Given the description of an element on the screen output the (x, y) to click on. 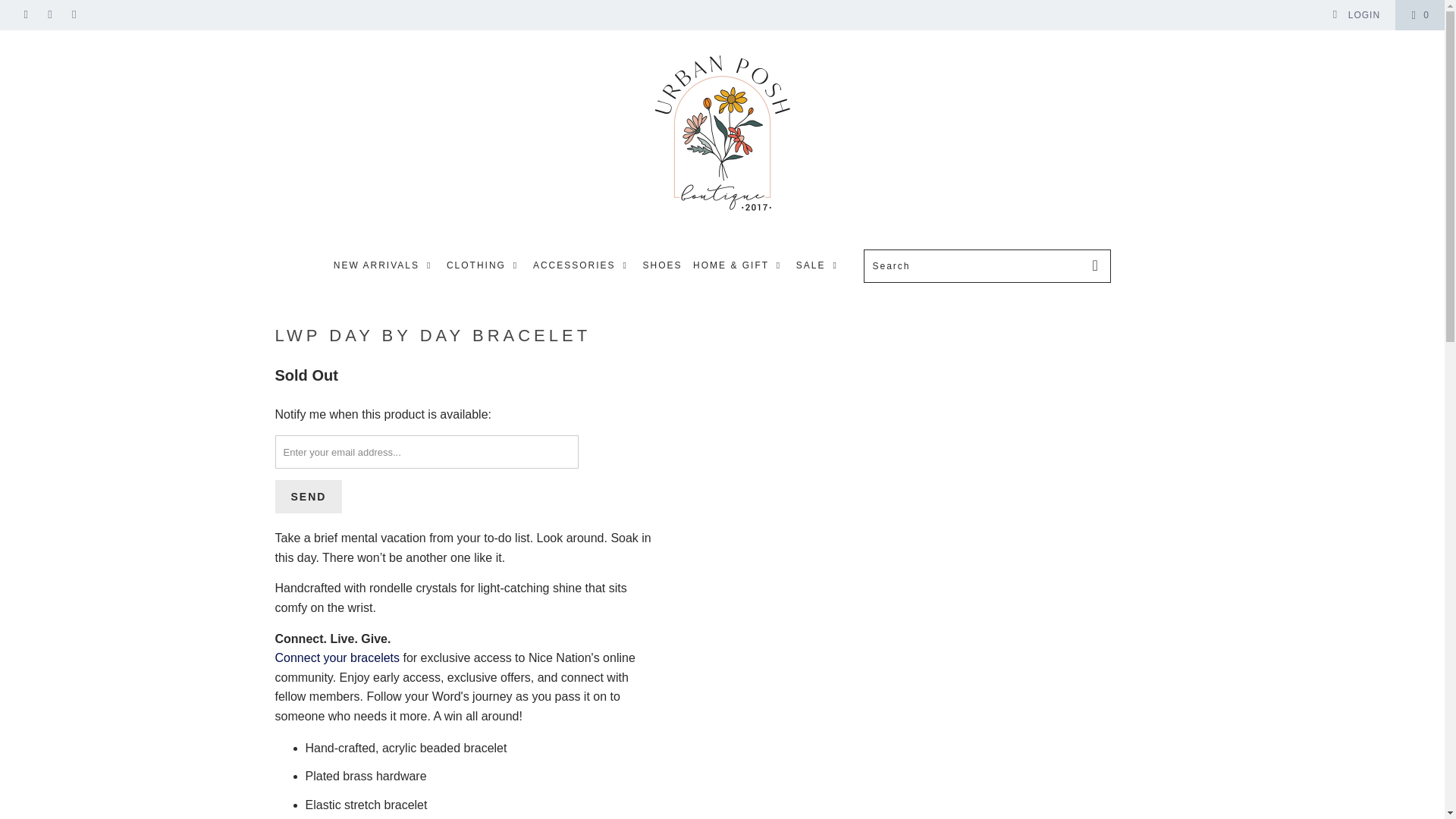
Send (308, 496)
My Account  (1355, 15)
Email Urban Posh Boutique (73, 14)
Urban Posh Boutique on Instagram (49, 14)
Urban Posh Boutique on Facebook (25, 14)
